Given the description of an element on the screen output the (x, y) to click on. 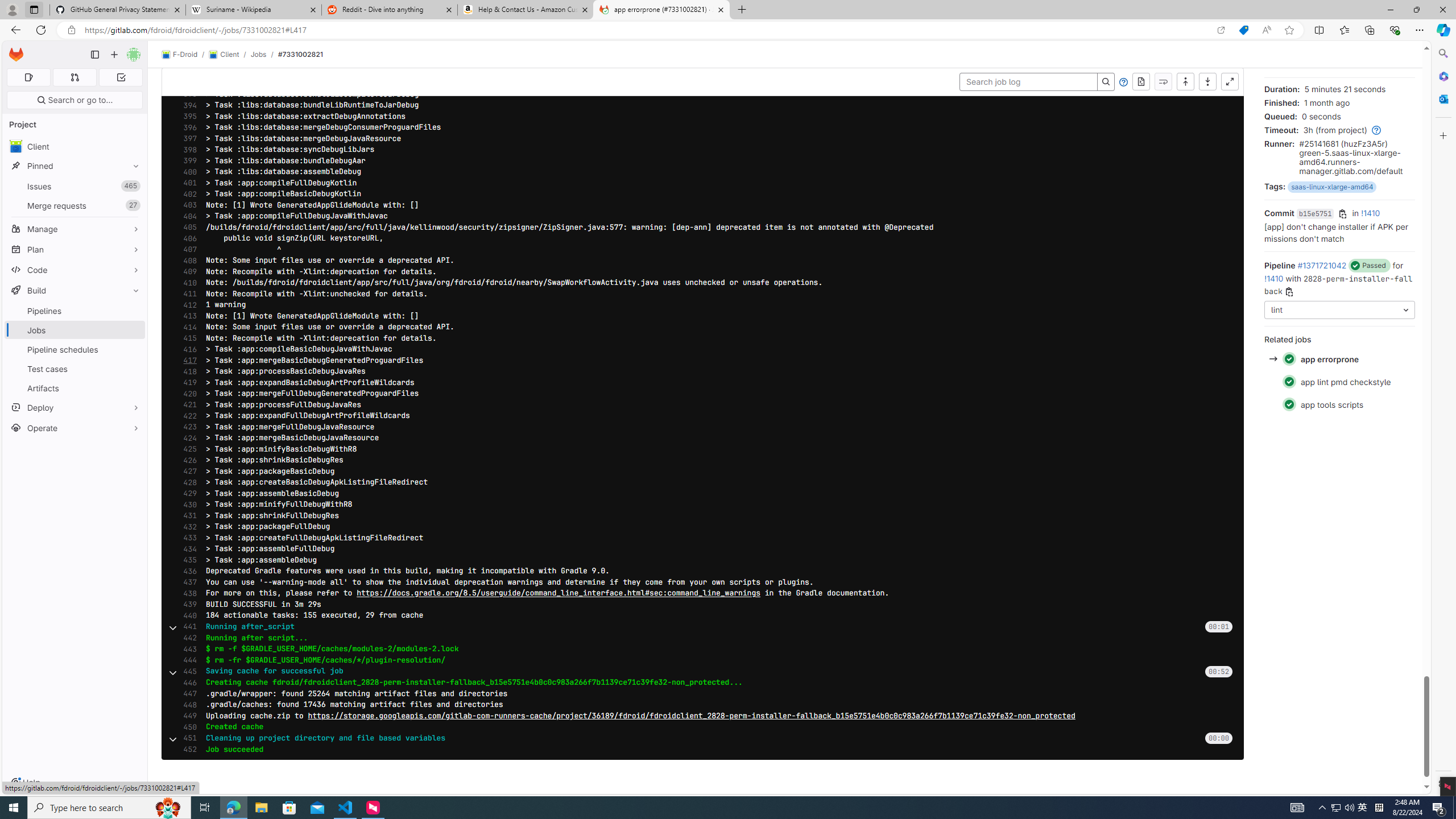
Jobs/ (264, 53)
Reddit - Dive into anything (390, 9)
399 (186, 160)
Class: gl-link (1374, 130)
440 (186, 615)
Status: Passed app tools scripts (1338, 404)
403 (186, 205)
Operate (74, 427)
Unpin Merge requests (132, 205)
Pin Pipeline schedules (132, 349)
392 (186, 82)
Operate (74, 427)
Copy commit SHA (1342, 213)
